Given the description of an element on the screen output the (x, y) to click on. 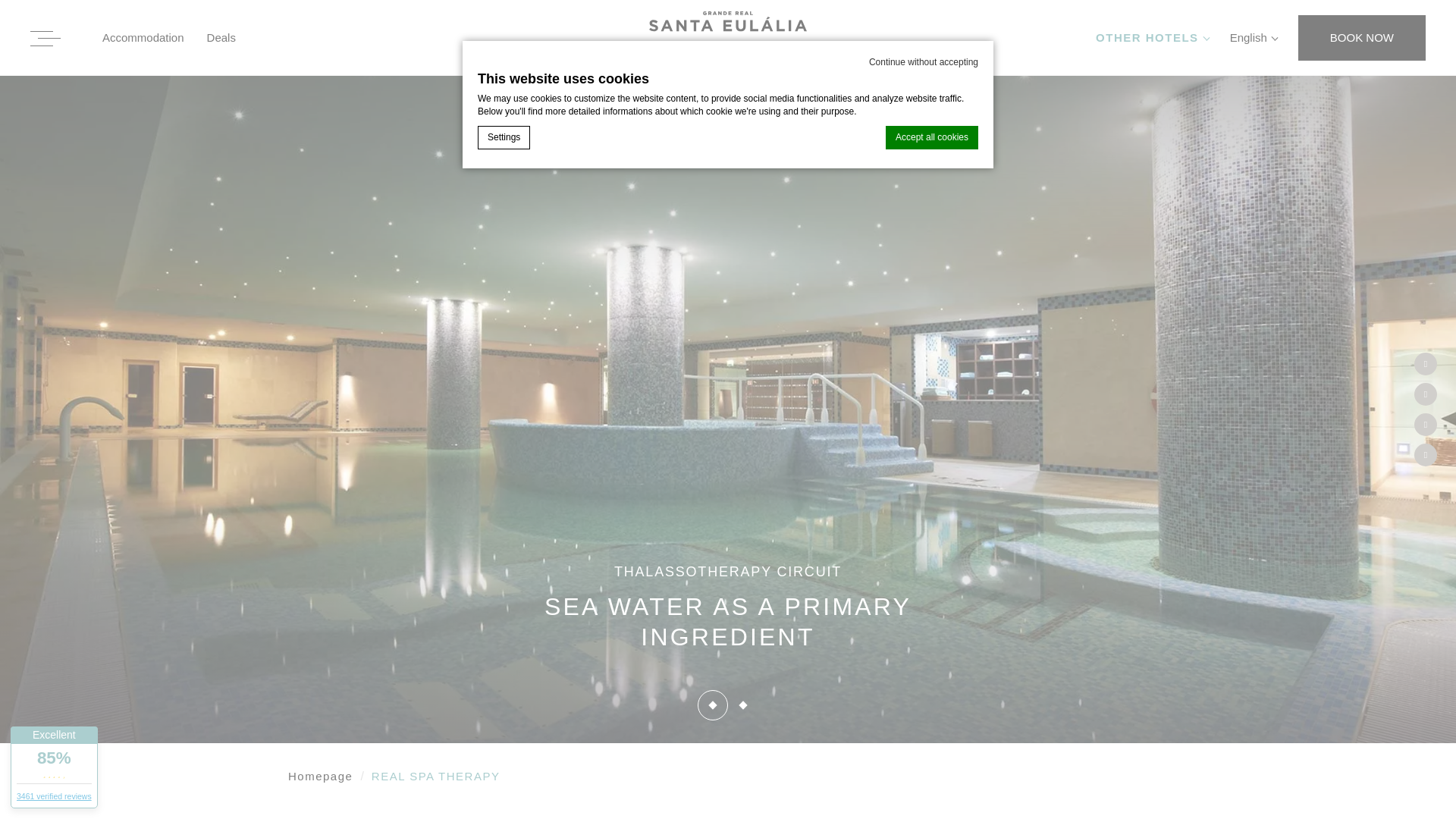
BOOK NOW (1361, 37)
Deals (221, 36)
Accept all cookies (931, 137)
Homepage (320, 776)
REAL SPA THERAPY (435, 776)
Settings (503, 137)
Continue without accepting (923, 62)
Accommodation (142, 36)
English (1252, 37)
OTHER HOTELS (1151, 37)
